Given the description of an element on the screen output the (x, y) to click on. 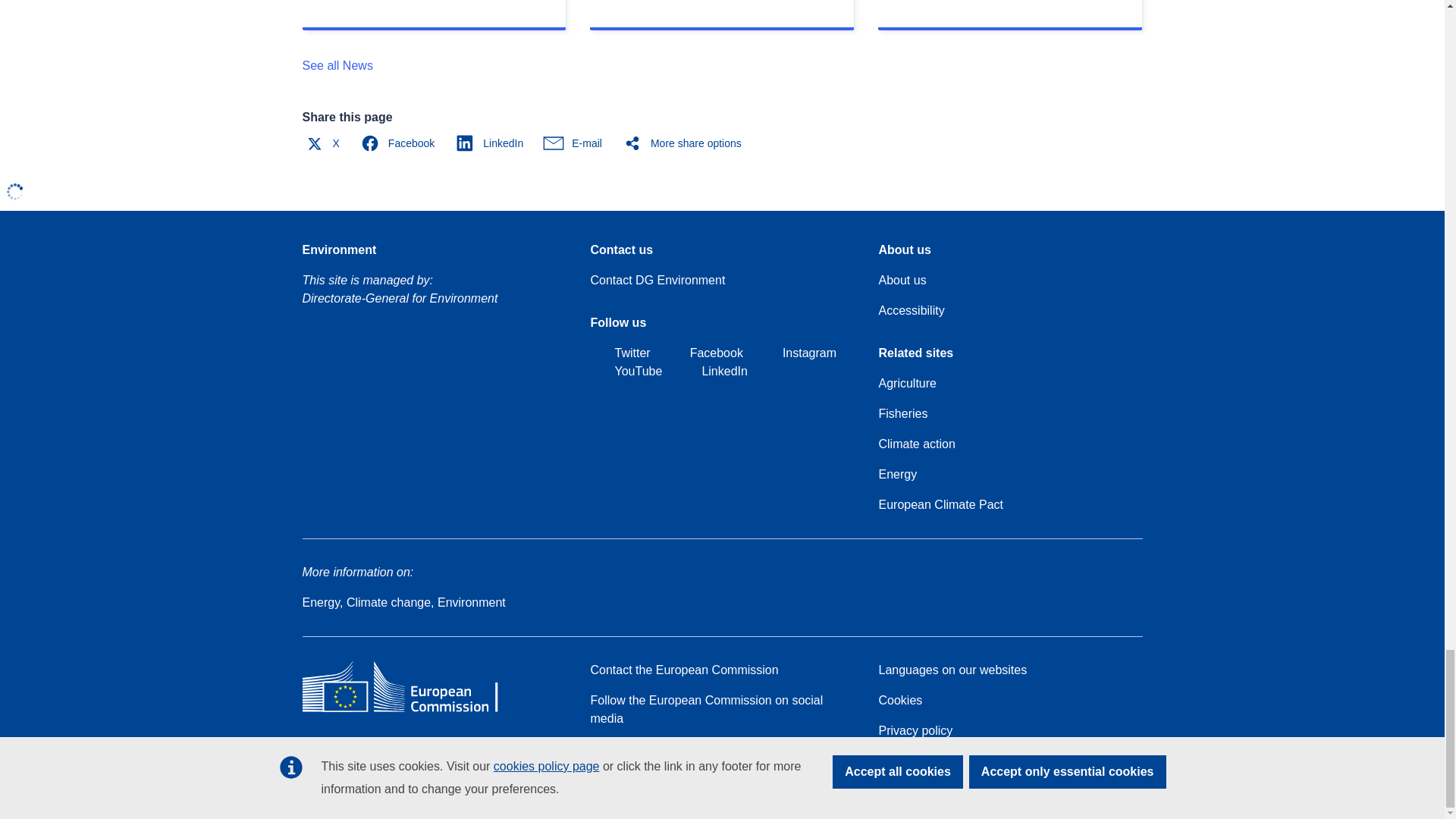
European Commission (411, 711)
